Given the description of an element on the screen output the (x, y) to click on. 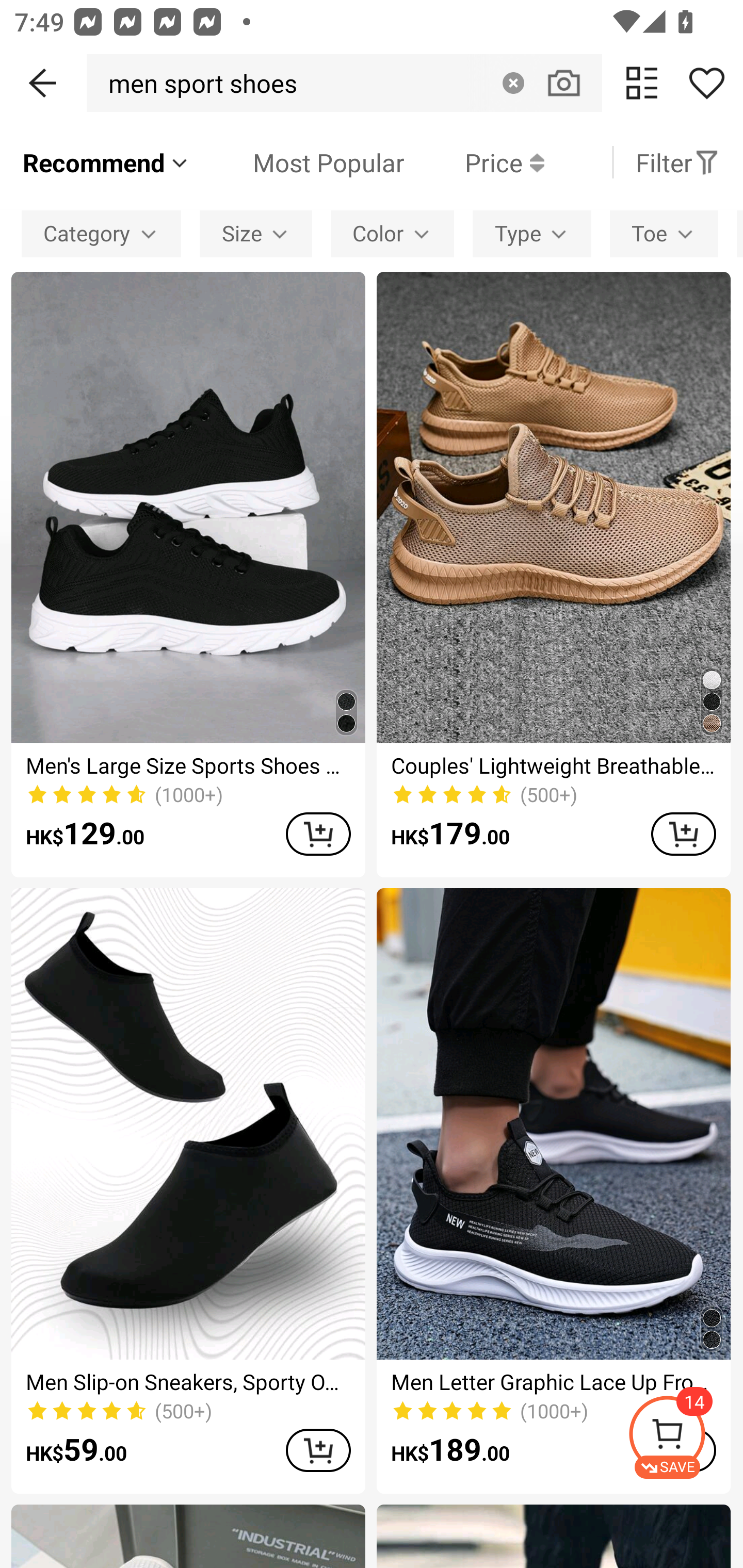
men sport shoes Clear (343, 82)
men sport shoes (197, 82)
Clear (513, 82)
change view (641, 82)
Share (706, 82)
Recommend (106, 162)
Most Popular (297, 162)
Price (474, 162)
Filter (677, 162)
Category (101, 233)
Size (255, 233)
Color (391, 233)
Type (531, 233)
Toe (664, 233)
ADD TO CART (318, 834)
ADD TO CART (683, 834)
SAVE (685, 1436)
ADD TO CART (318, 1450)
